Given the description of an element on the screen output the (x, y) to click on. 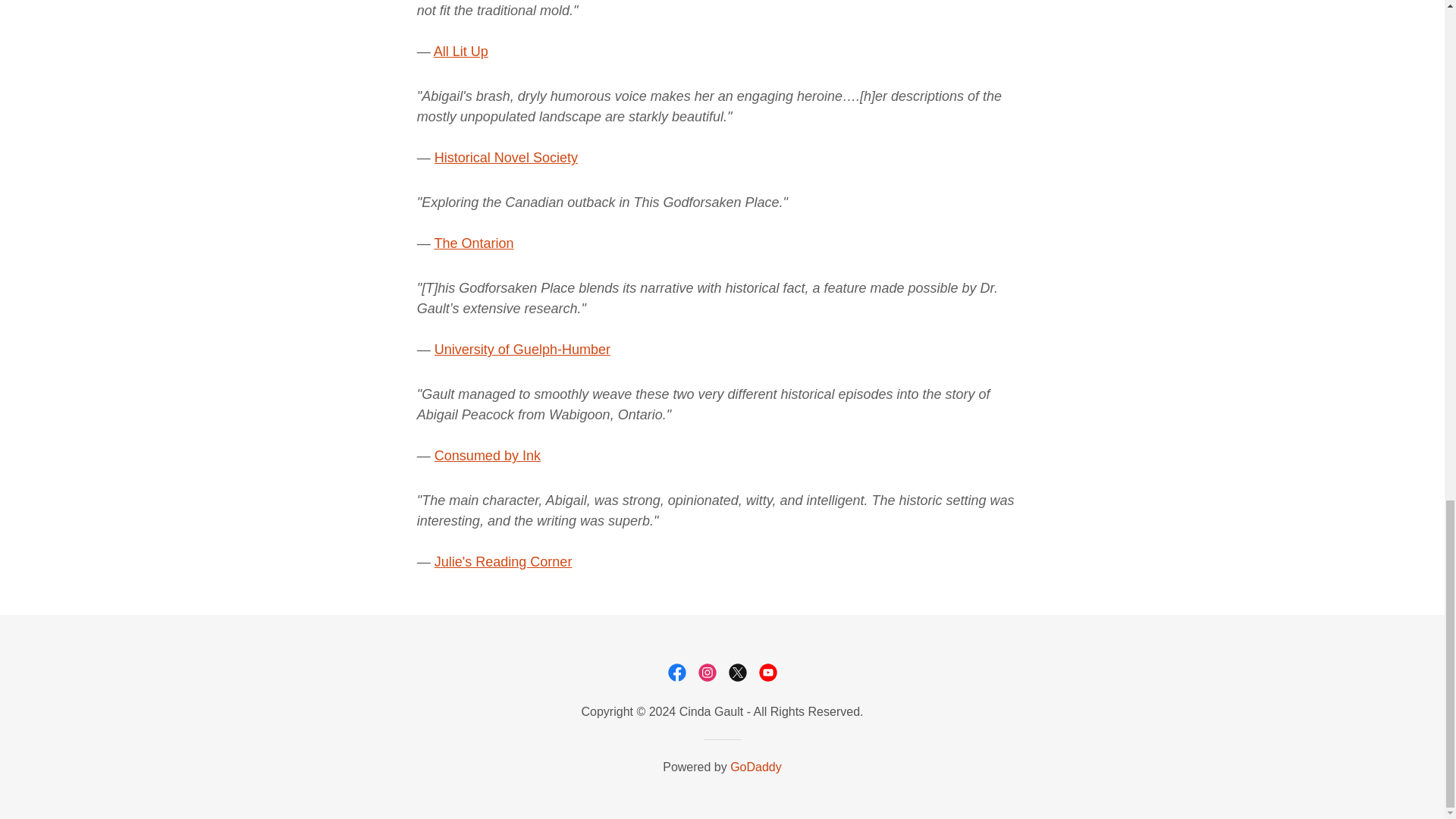
All Lit Up (460, 51)
